Given the description of an element on the screen output the (x, y) to click on. 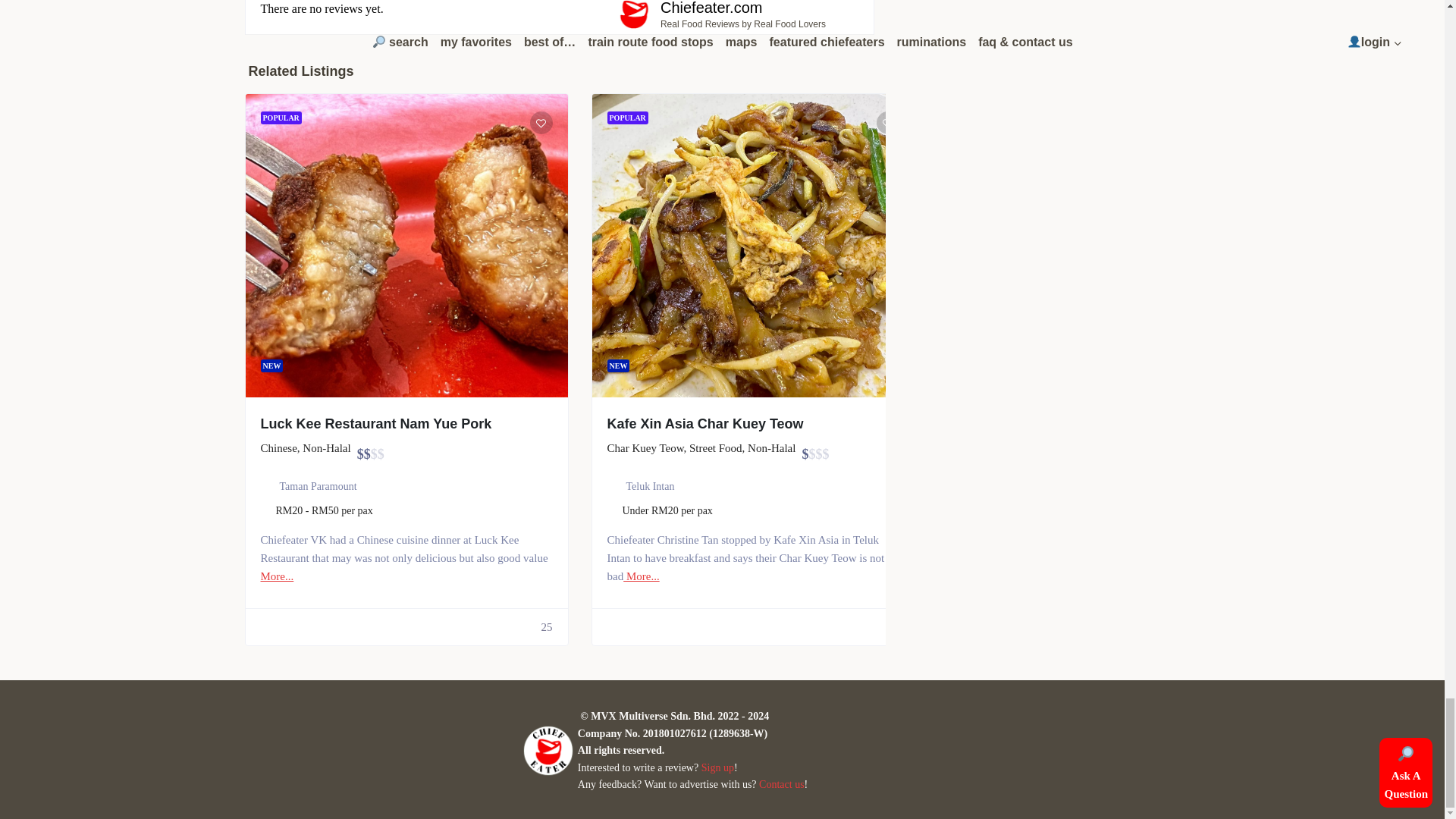
More... (641, 576)
Luck Kee Restaurant Nam Yue Pork (376, 423)
Teluk Intan (650, 486)
Taman Paramount (317, 486)
Kafe Xin Asia Char Kuey Teow (705, 423)
More... (277, 576)
